Given the description of an element on the screen output the (x, y) to click on. 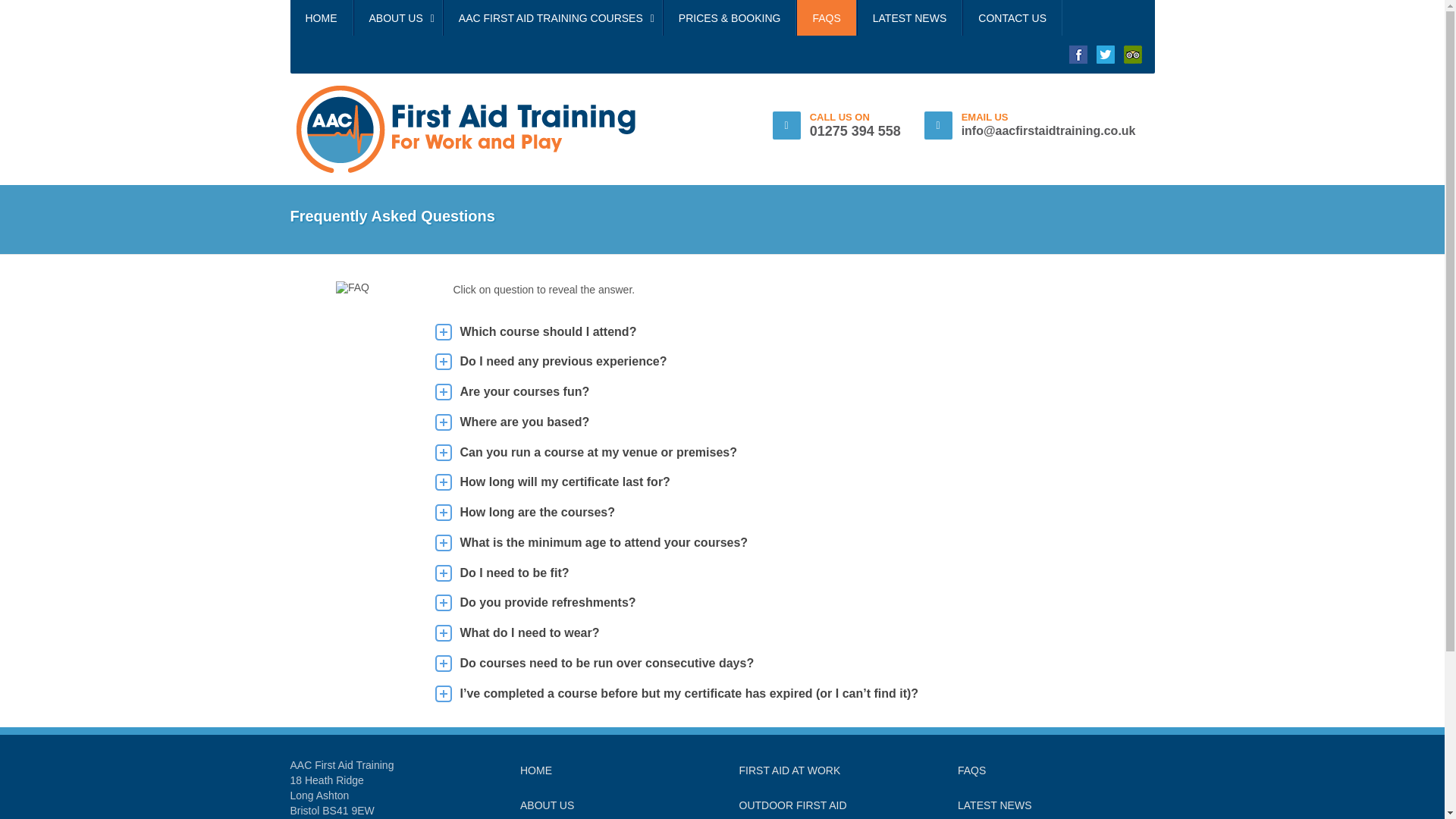
LATEST NEWS (909, 18)
HOME (535, 770)
Faqs (971, 770)
ABOUT US (397, 18)
FAQS (826, 18)
Home (535, 770)
ABOUT US (546, 805)
About us (546, 805)
faq (352, 287)
CONTACT US (1011, 18)
